Given the description of an element on the screen output the (x, y) to click on. 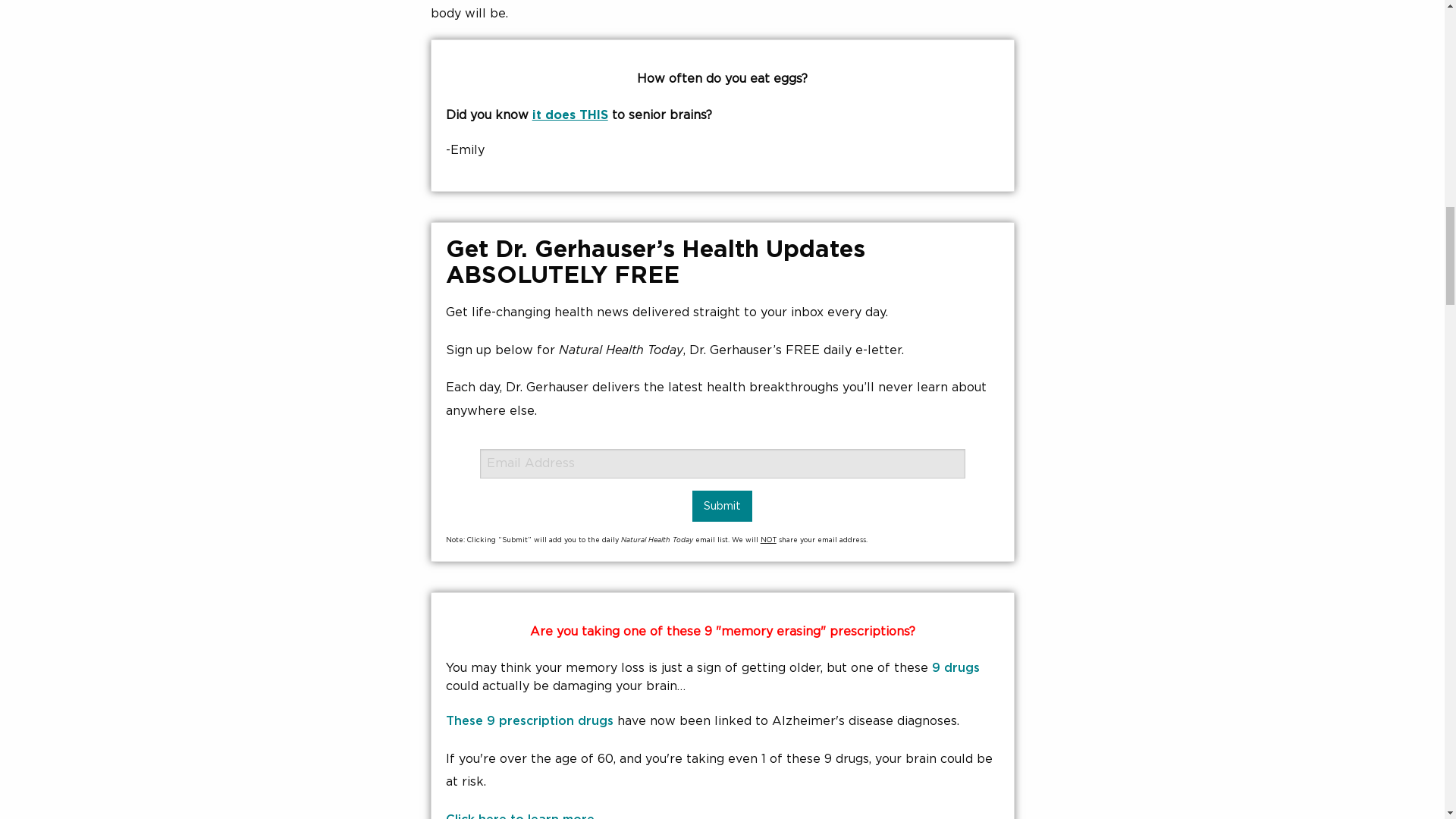
These 9 prescription drugs (528, 720)
it does THIS (570, 114)
Submit (722, 505)
9 drugs (955, 667)
Click here to learn more. (520, 816)
